Given the description of an element on the screen output the (x, y) to click on. 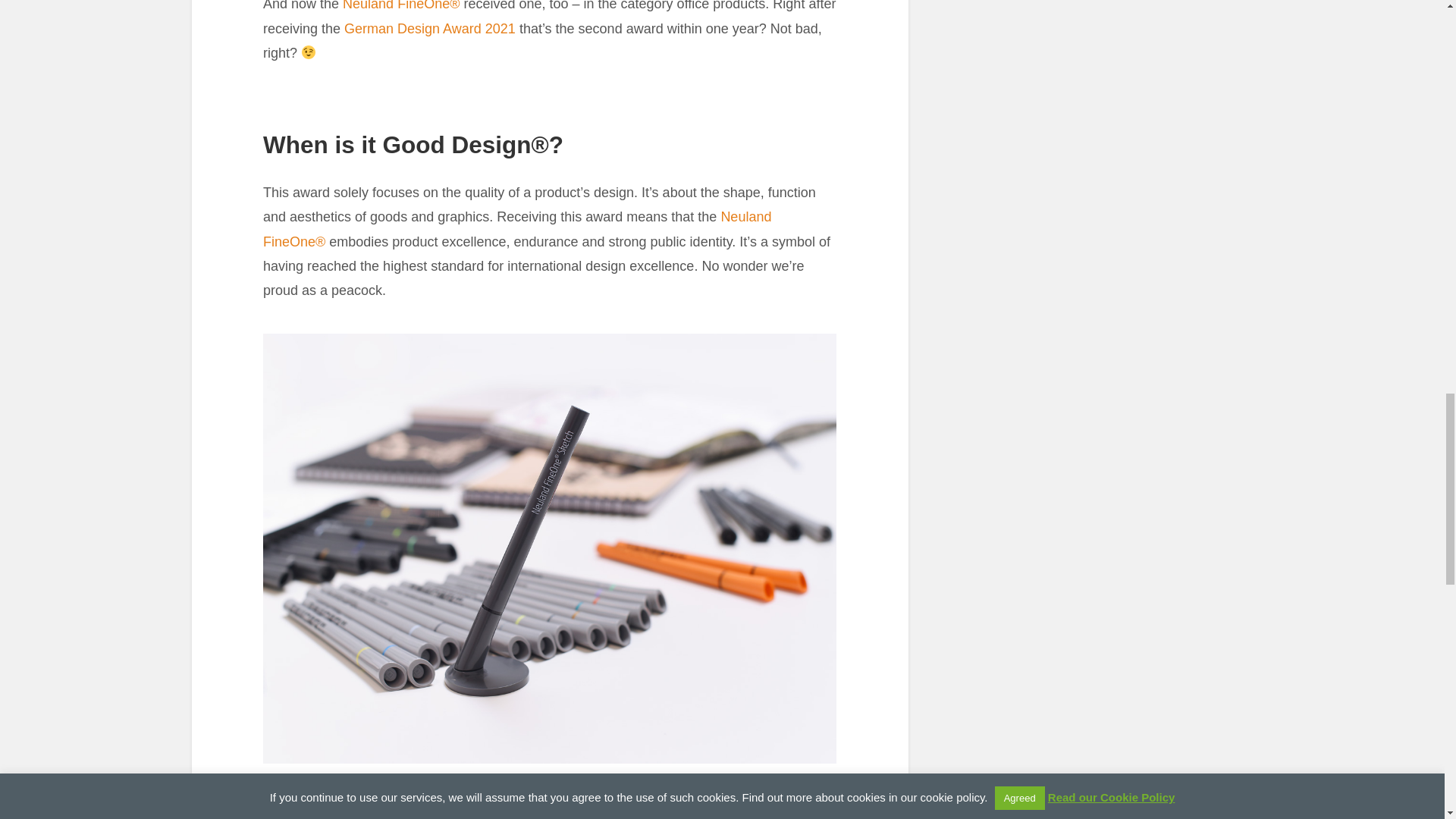
More information (382, 795)
Send by email (347, 795)
German Design Award 2021 (429, 28)
Share on Facebook (280, 795)
Share on X (314, 795)
